Given the description of an element on the screen output the (x, y) to click on. 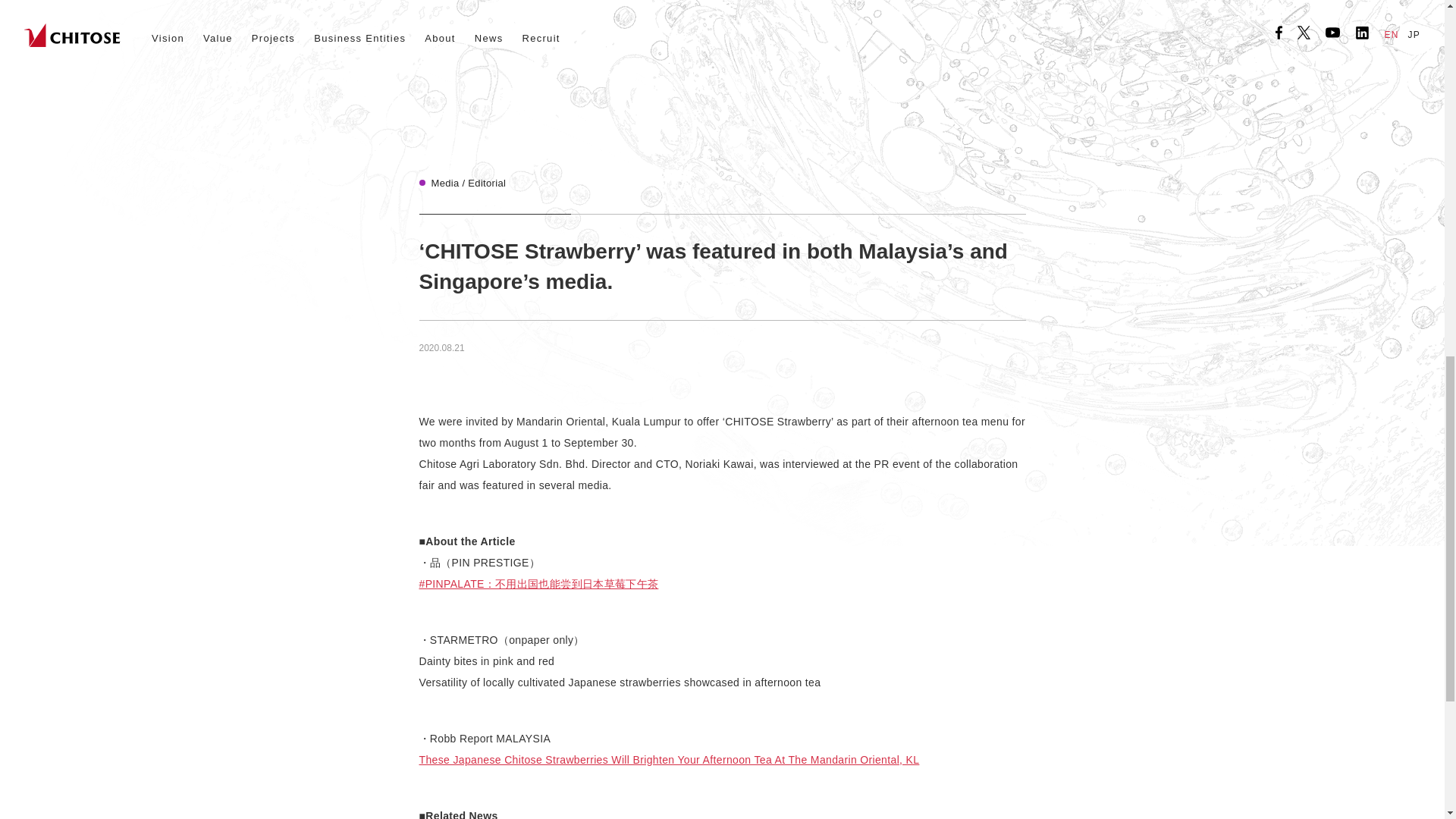
Top (513, 651)
